Given the description of an element on the screen output the (x, y) to click on. 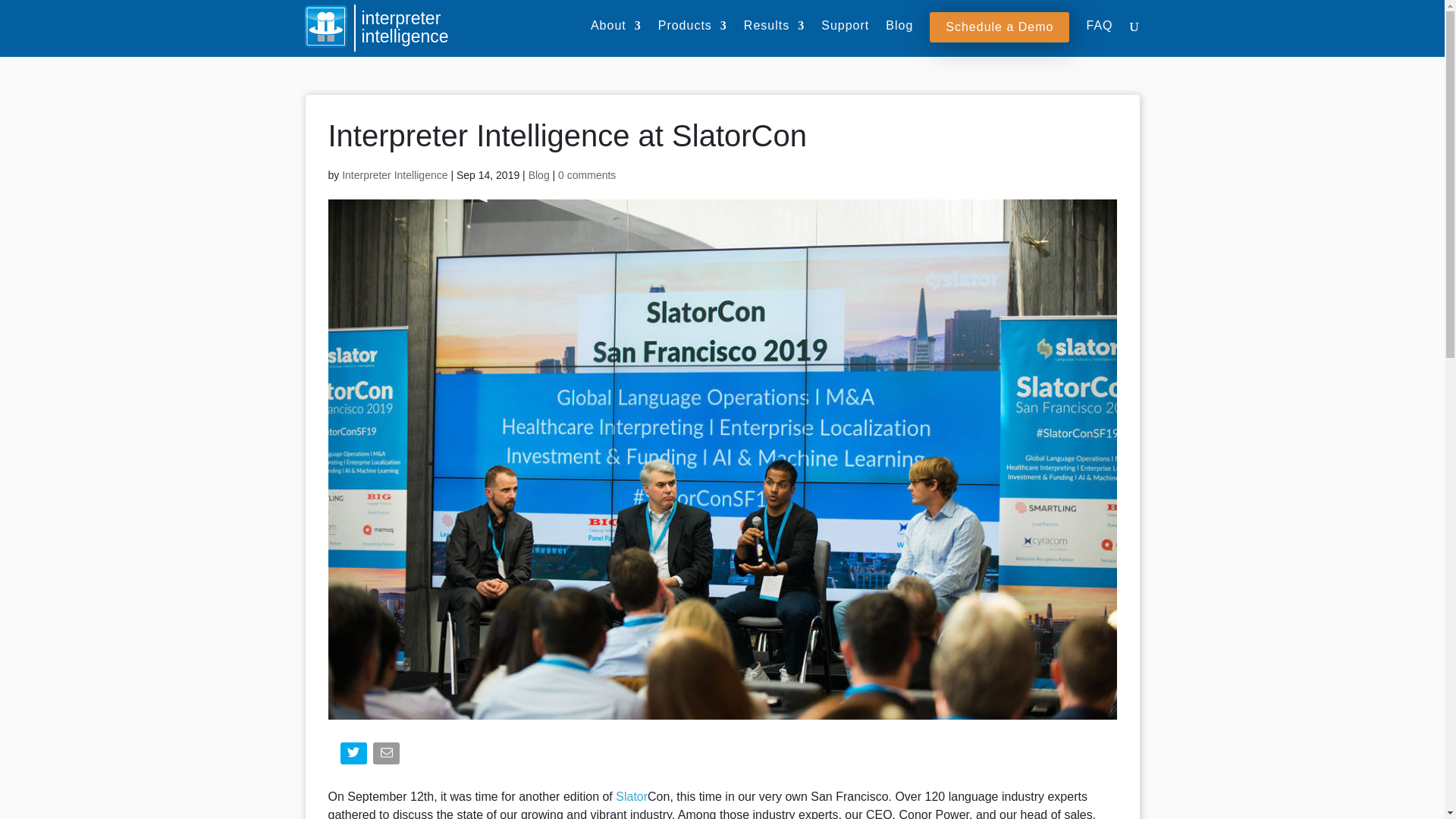
Tweet (354, 756)
Schedule a Demo (999, 27)
Products (692, 38)
Posts by Interpreter Intelligence (394, 174)
Email (387, 756)
Results (774, 38)
About (616, 38)
Support (845, 38)
Interpreter Intelligence (394, 174)
